Given the description of an element on the screen output the (x, y) to click on. 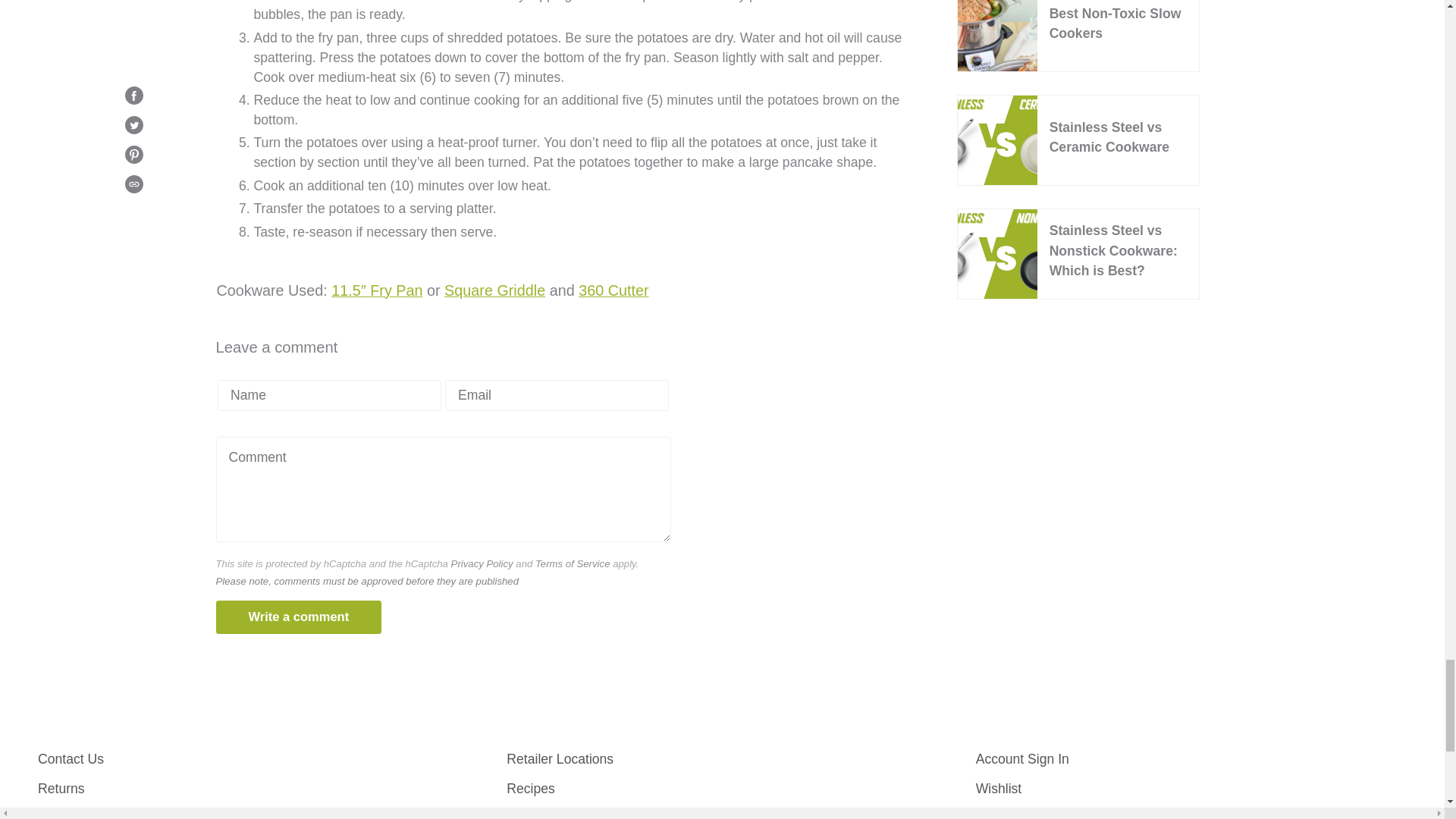
Write a comment (298, 616)
Contact Us (70, 758)
Return Policy (60, 788)
